Given the description of an element on the screen output the (x, y) to click on. 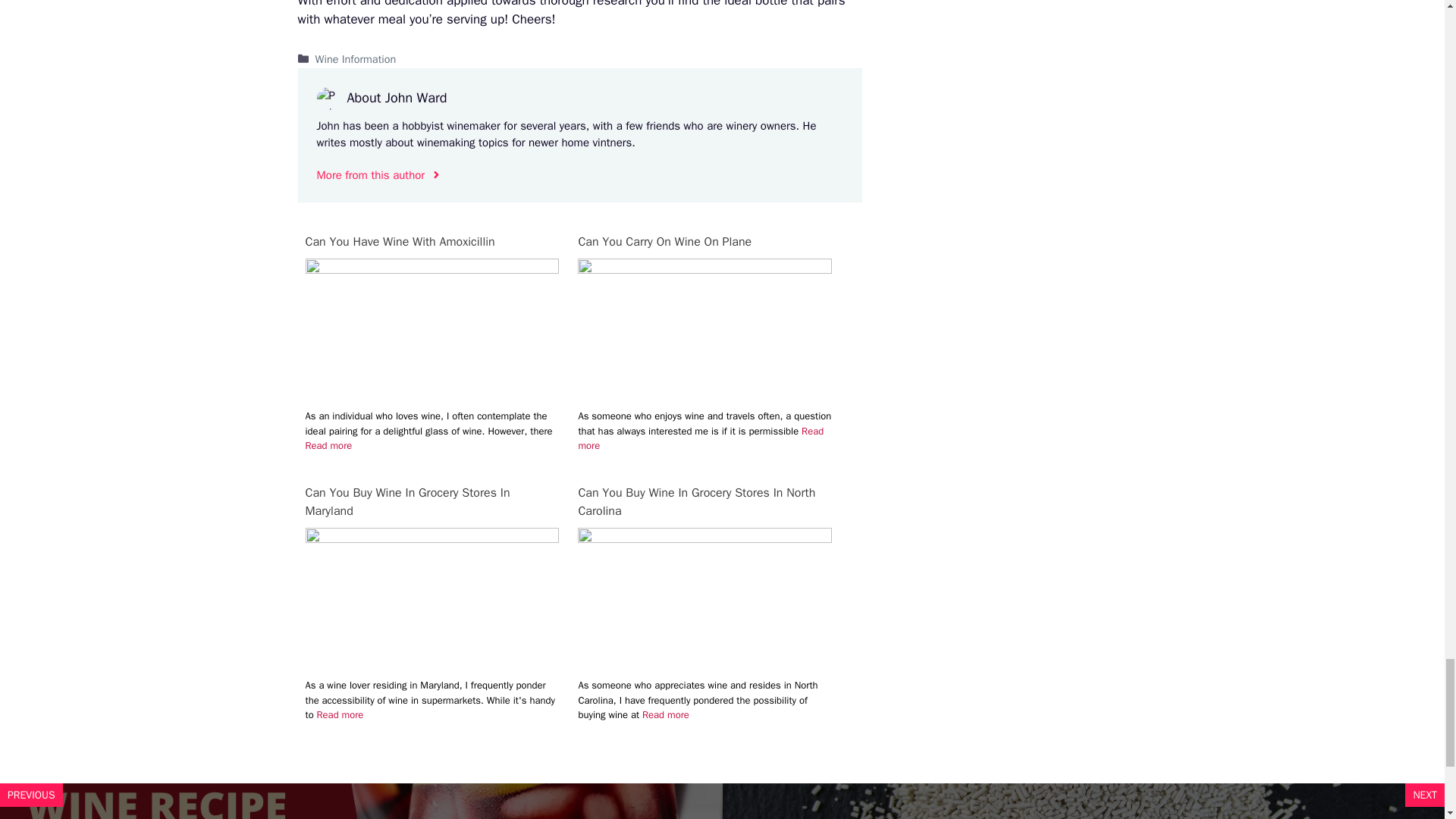
More from this author (379, 175)
Can You Buy Wine In Grocery Stores In Maryland (431, 502)
Can You Buy Wine In Grocery Stores In North Carolina (704, 502)
Can You Buy Wine In Grocery Stores In North Carolina (704, 538)
Can You Carry On Wine On Plane (704, 241)
Can You Carry On Wine On Plane (704, 269)
Read more (328, 445)
Can You Buy Wine In Grocery Stores In Maryland (431, 502)
Wine Information (355, 59)
Read more (340, 714)
